Given the description of an element on the screen output the (x, y) to click on. 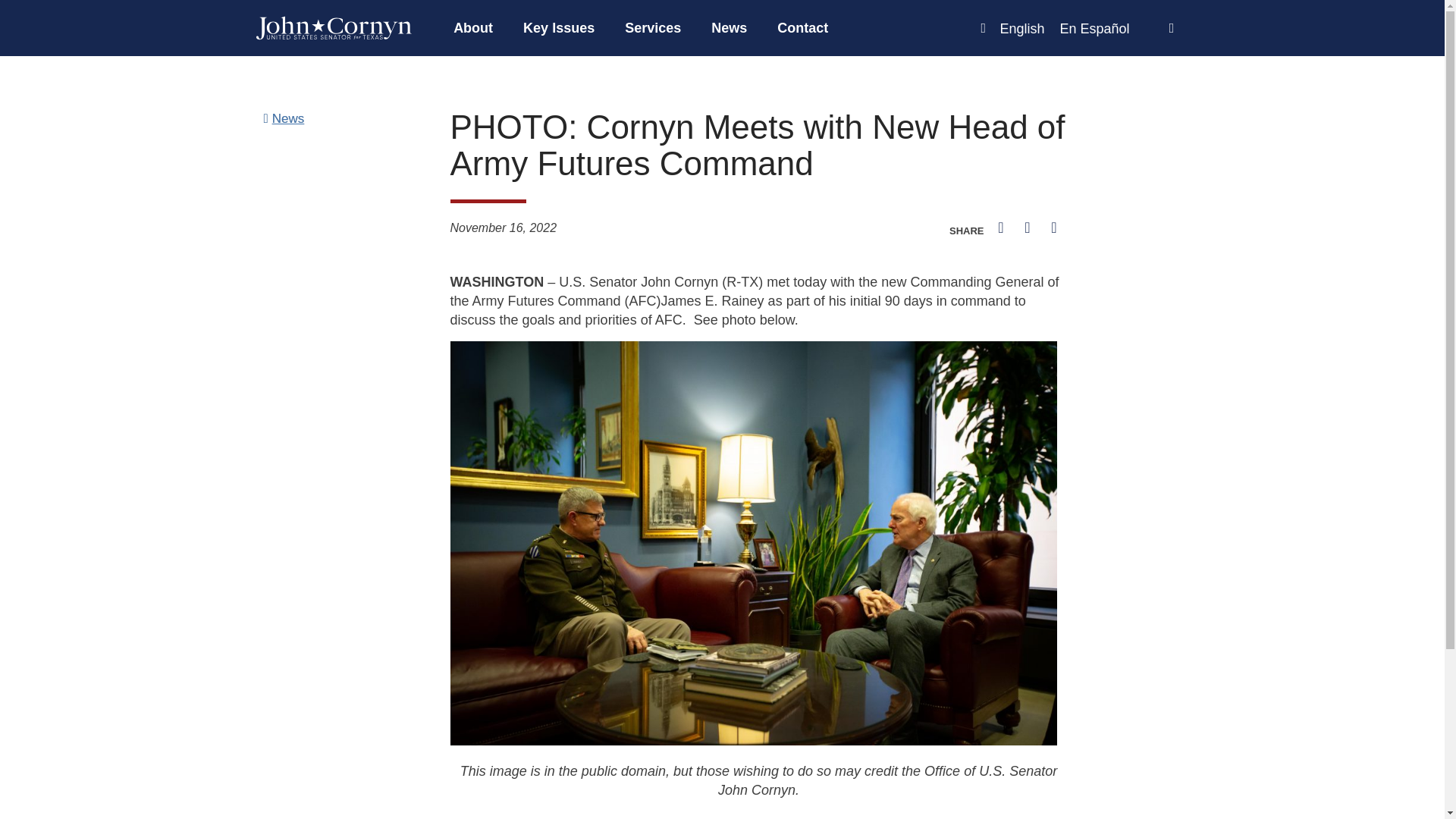
About (473, 27)
News (728, 27)
Contact (802, 27)
Services (652, 27)
Key Issues (559, 27)
Share (912, 238)
Menu (682, 27)
